Given the description of an element on the screen output the (x, y) to click on. 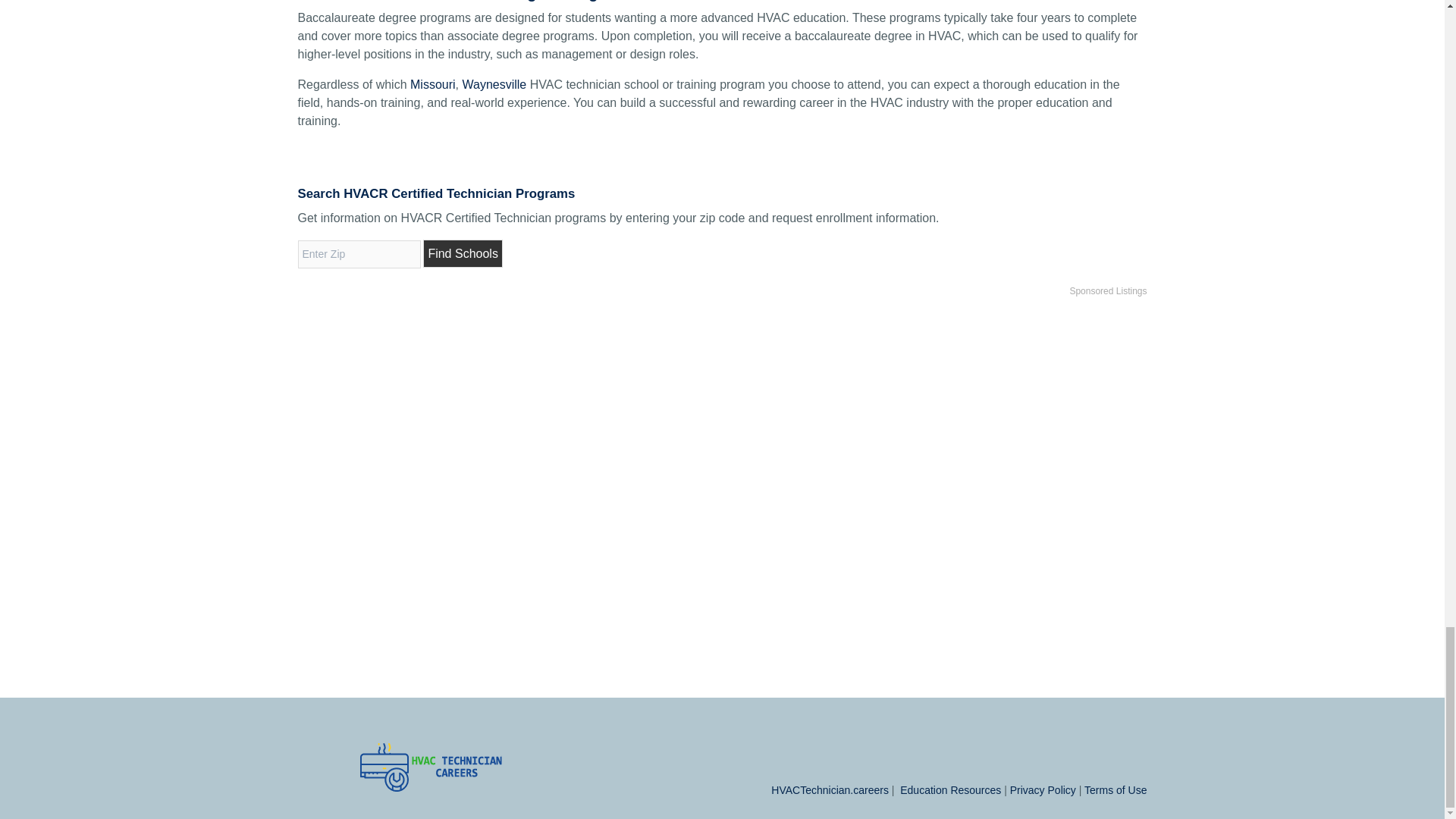
Find Schools (462, 253)
Waynesville (493, 83)
Find Schools (462, 253)
Missouri (432, 83)
